Given the description of an element on the screen output the (x, y) to click on. 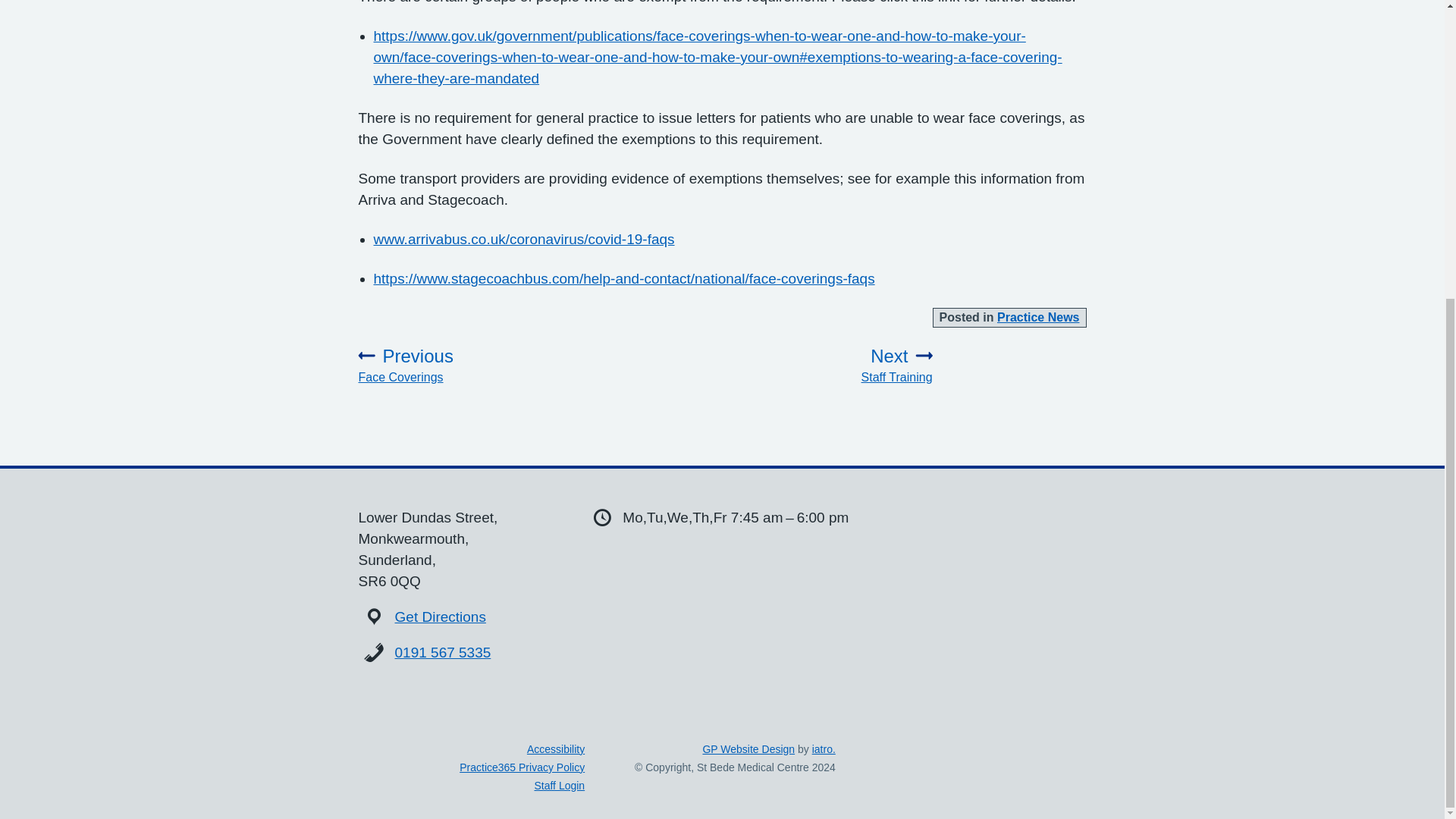
Get Directions (440, 616)
0191 567 5335 (823, 364)
Accessibility (443, 652)
Practice365 Privacy Policy (467, 364)
iatro. (556, 748)
GP Website Design (522, 767)
Practice News (823, 748)
Staff Login (747, 748)
